Given the description of an element on the screen output the (x, y) to click on. 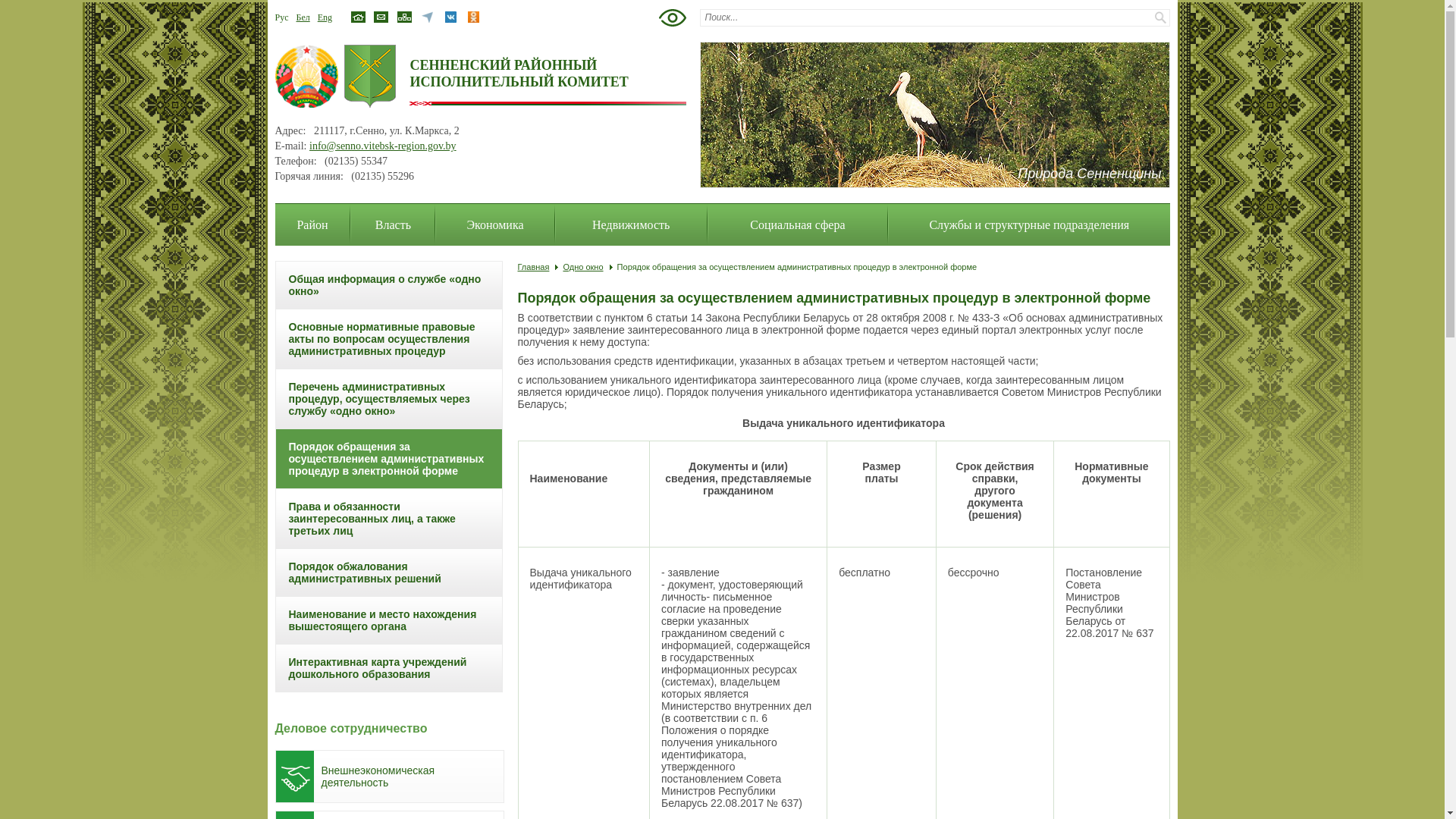
telegram Element type: hover (427, 20)
info@senno.vitebsk-region.gov.by Element type: text (382, 145)
telegram Element type: hover (427, 16)
Eng Element type: text (324, 17)
